Given the description of an element on the screen output the (x, y) to click on. 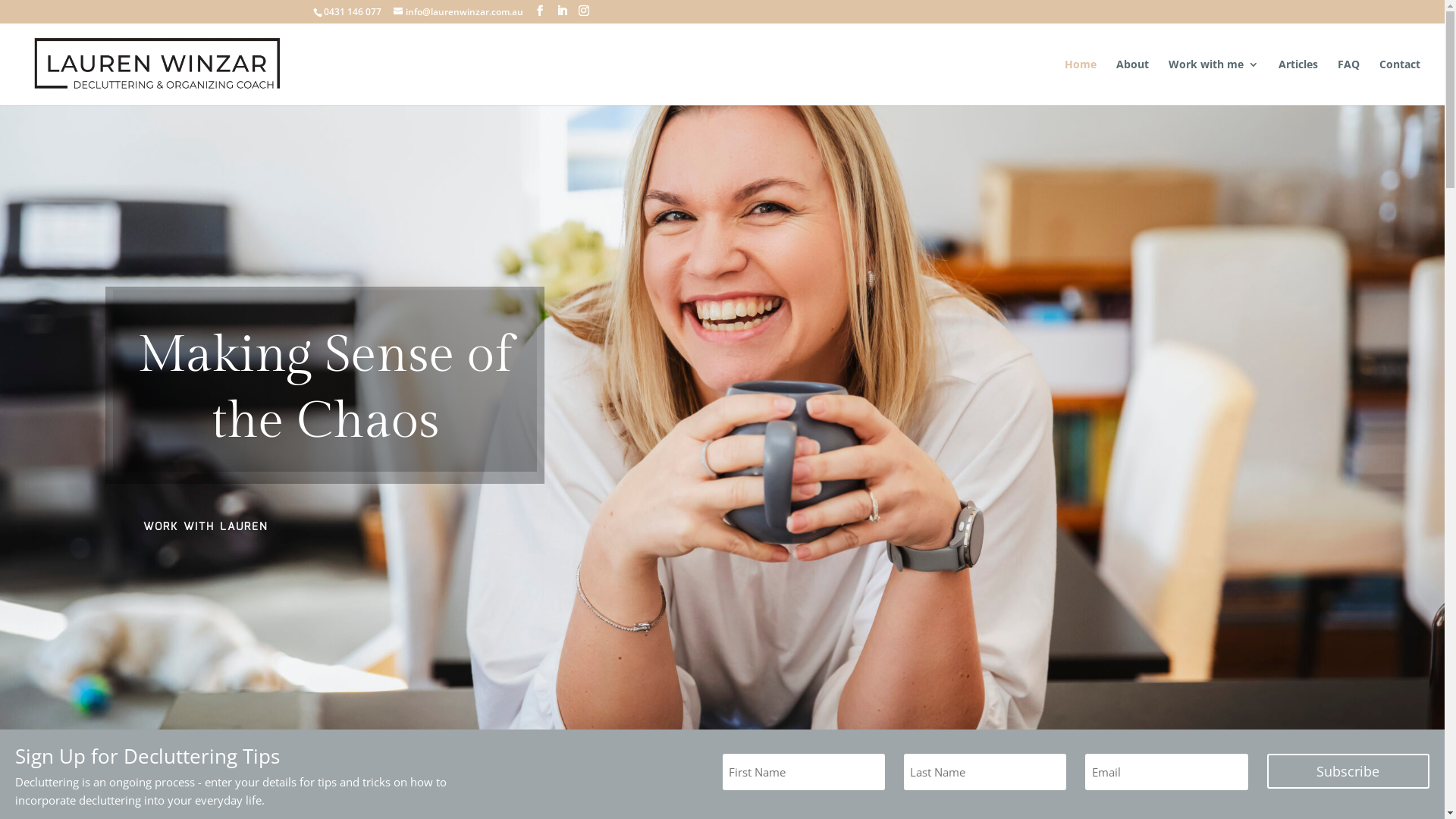
info@laurenwinzar.com.au Element type: text (457, 11)
Work with me Element type: text (1213, 82)
Contact Element type: text (1399, 82)
WORK WITH LAUREN Element type: text (205, 527)
Articles Element type: text (1297, 82)
About Element type: text (1132, 82)
Subscribe Element type: text (1348, 770)
FAQ Element type: text (1348, 82)
Home Element type: text (1080, 82)
